Given the description of an element on the screen output the (x, y) to click on. 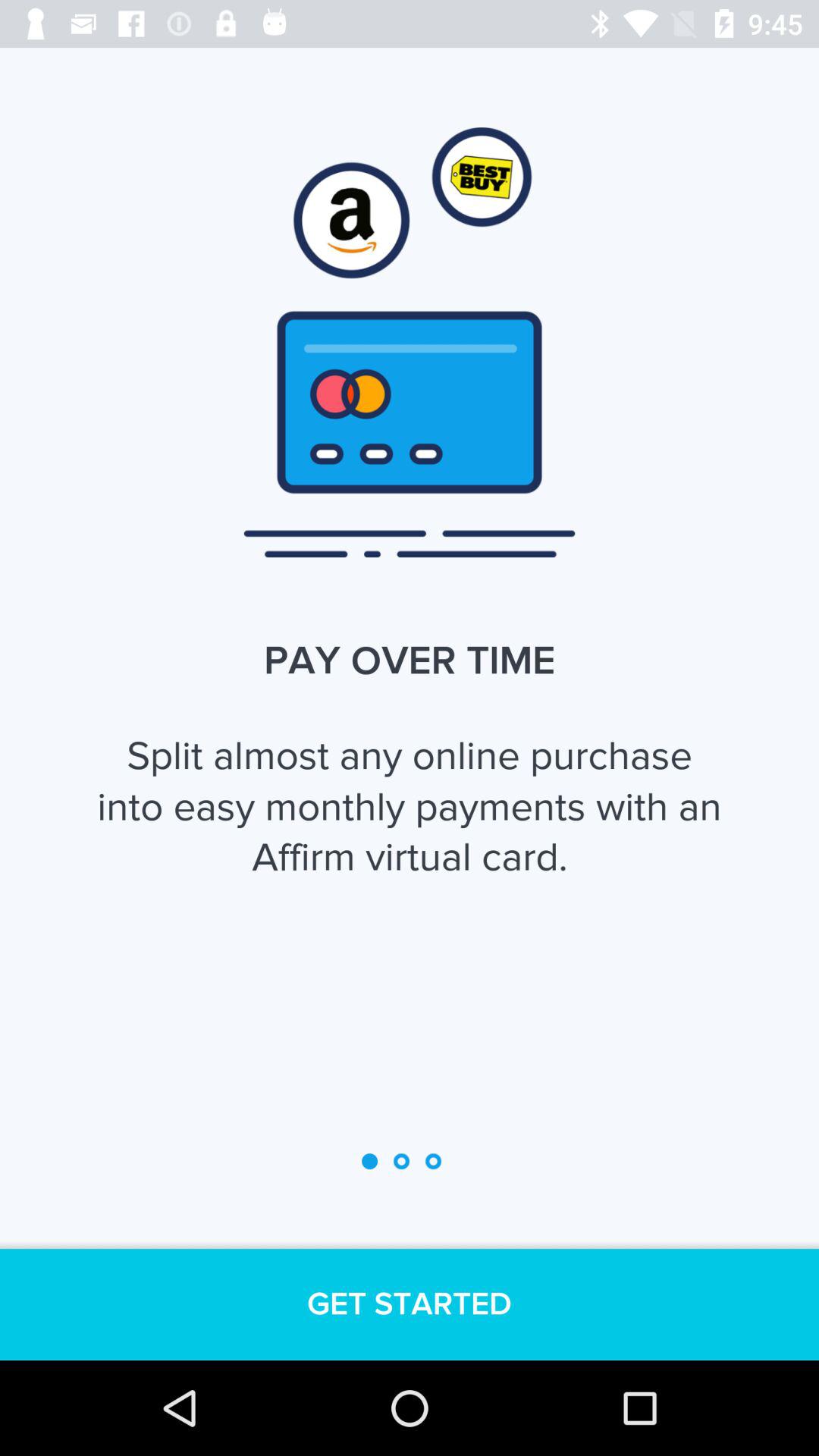
jump until get started item (409, 1304)
